Given the description of an element on the screen output the (x, y) to click on. 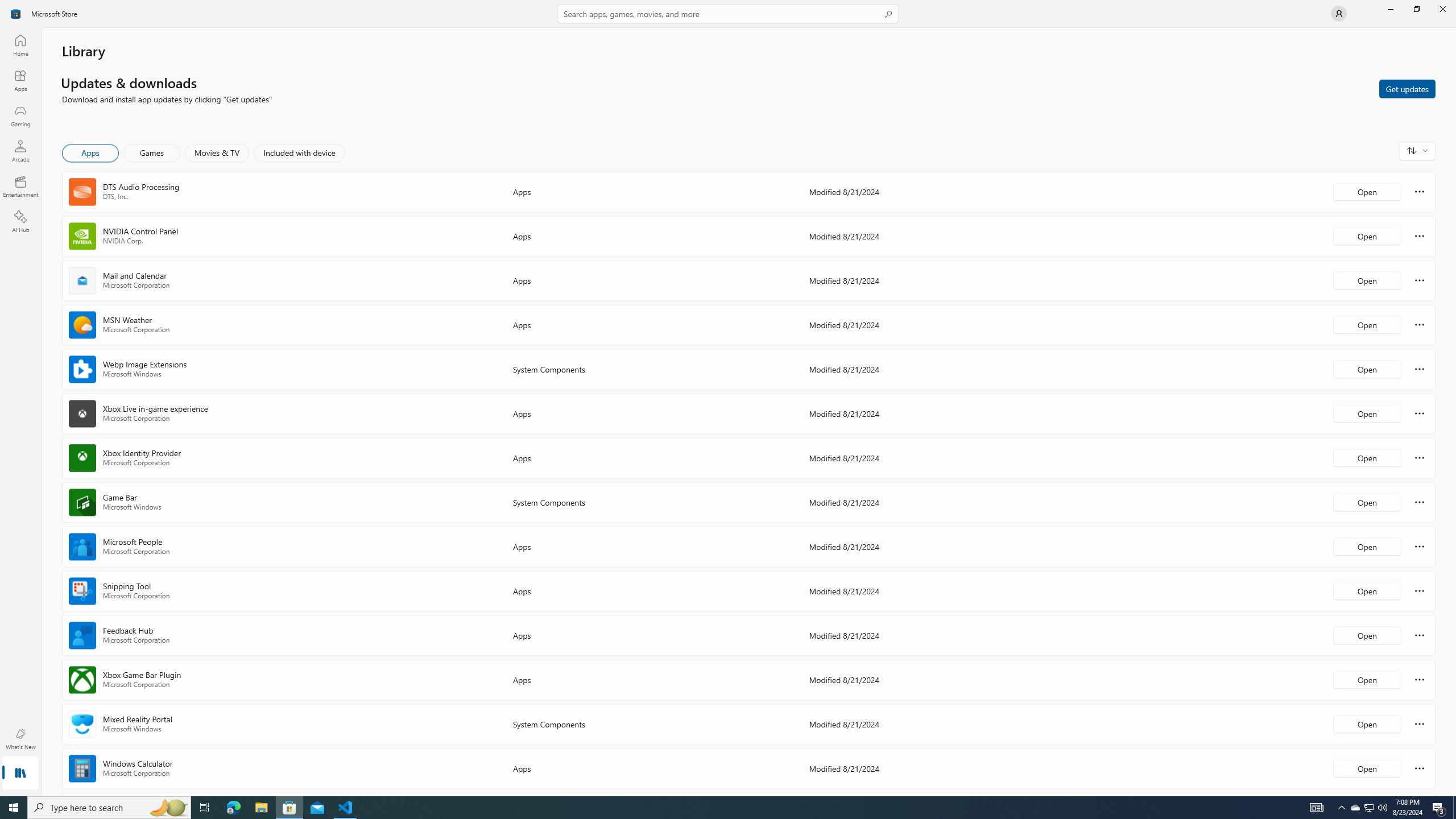
Included with device (299, 153)
Sort and filter (1417, 149)
Games (151, 153)
Search (727, 13)
AutomationID: NavigationControl (728, 398)
Get updates (1406, 88)
Movies & TV (216, 153)
